Given the description of an element on the screen output the (x, y) to click on. 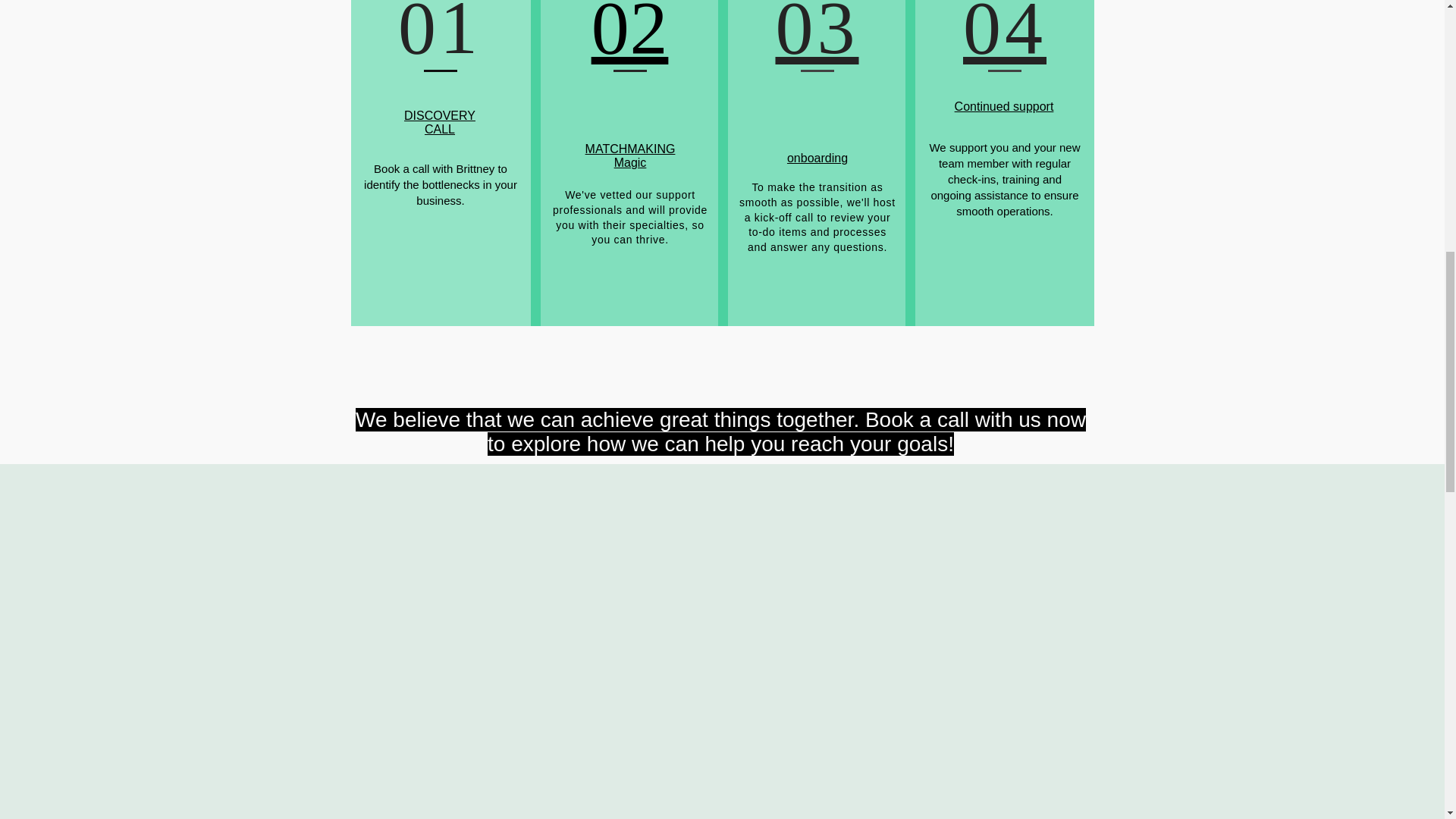
02 (630, 155)
03 (440, 121)
Continued support (629, 34)
04 (816, 34)
onboarding (1004, 106)
